Given the description of an element on the screen output the (x, y) to click on. 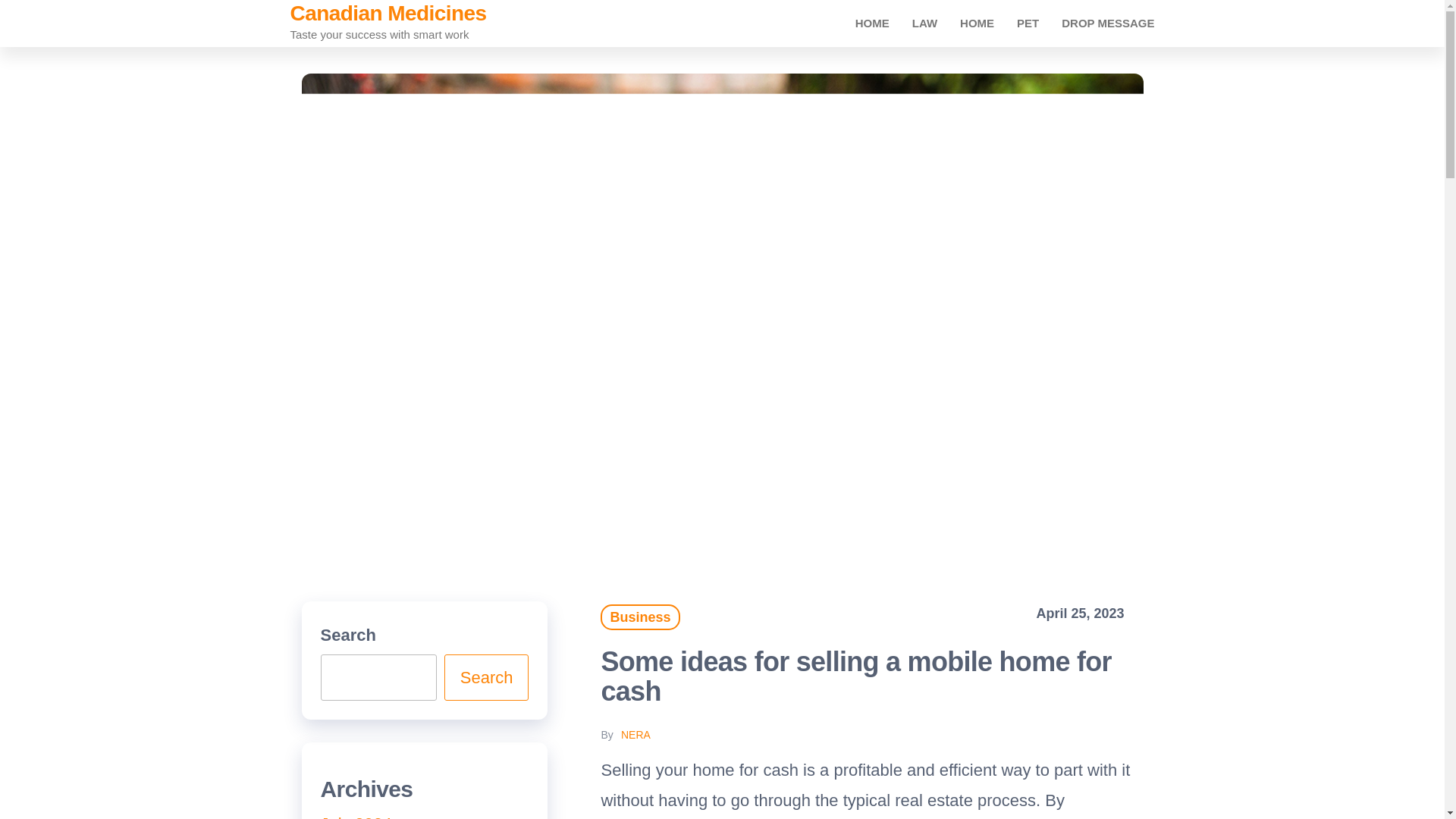
Drop Message (1107, 22)
NERA (635, 734)
Canadian Medicines (387, 13)
Pet (1027, 22)
Home (872, 22)
Home (977, 22)
HOME (977, 22)
Law (925, 22)
July 2024 (355, 816)
HOME (872, 22)
Search (486, 677)
Business (639, 616)
DROP MESSAGE (1107, 22)
PET (1027, 22)
LAW (925, 22)
